Given the description of an element on the screen output the (x, y) to click on. 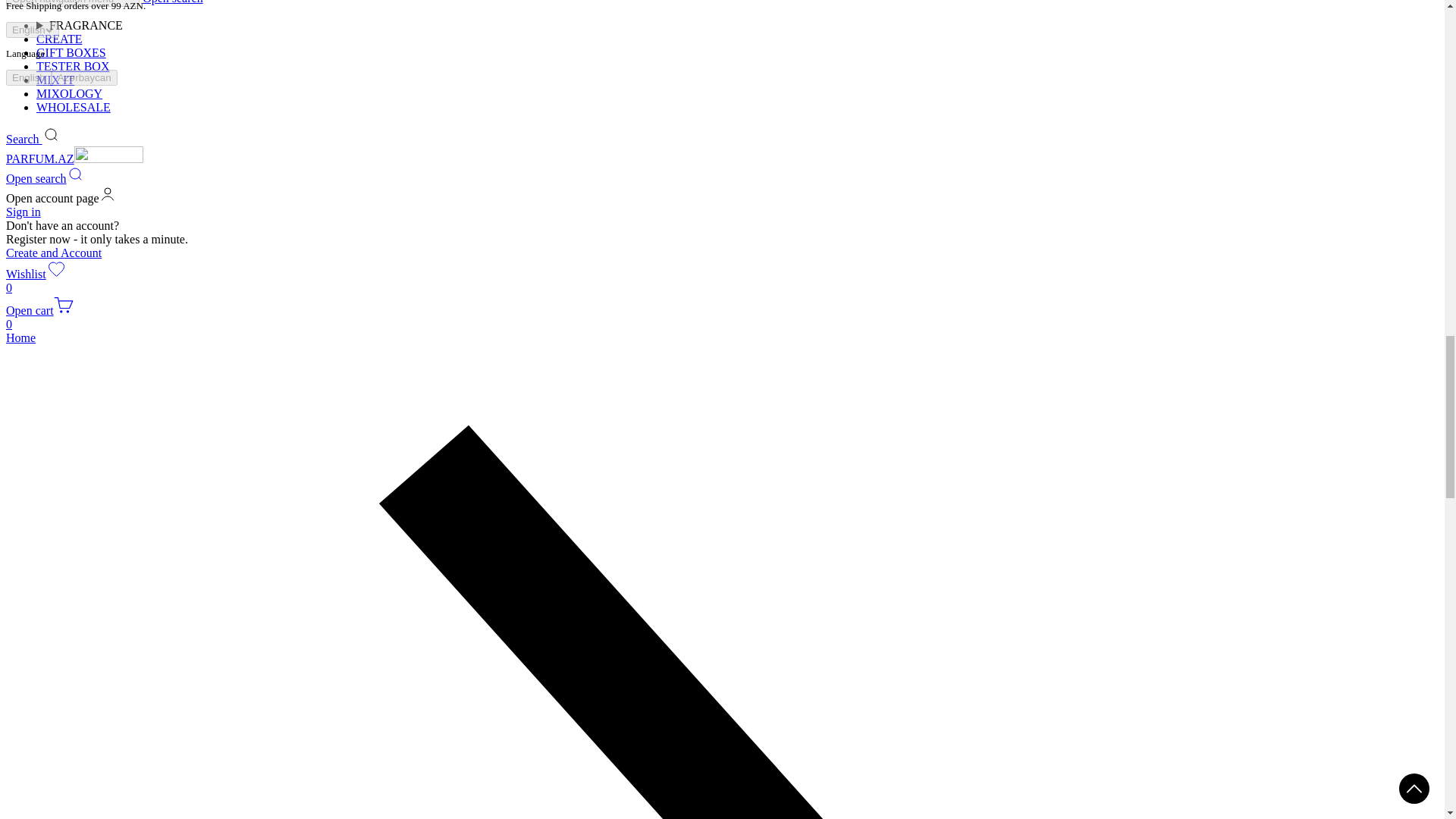
MIXOLOGY (73, 472)
GIFT BOXES (75, 431)
WHOLESALE (77, 486)
TESTER BOX (76, 445)
MIX IT (59, 459)
az (114, 664)
AZ (66, 609)
en (58, 664)
CREATE (63, 418)
